Given the description of an element on the screen output the (x, y) to click on. 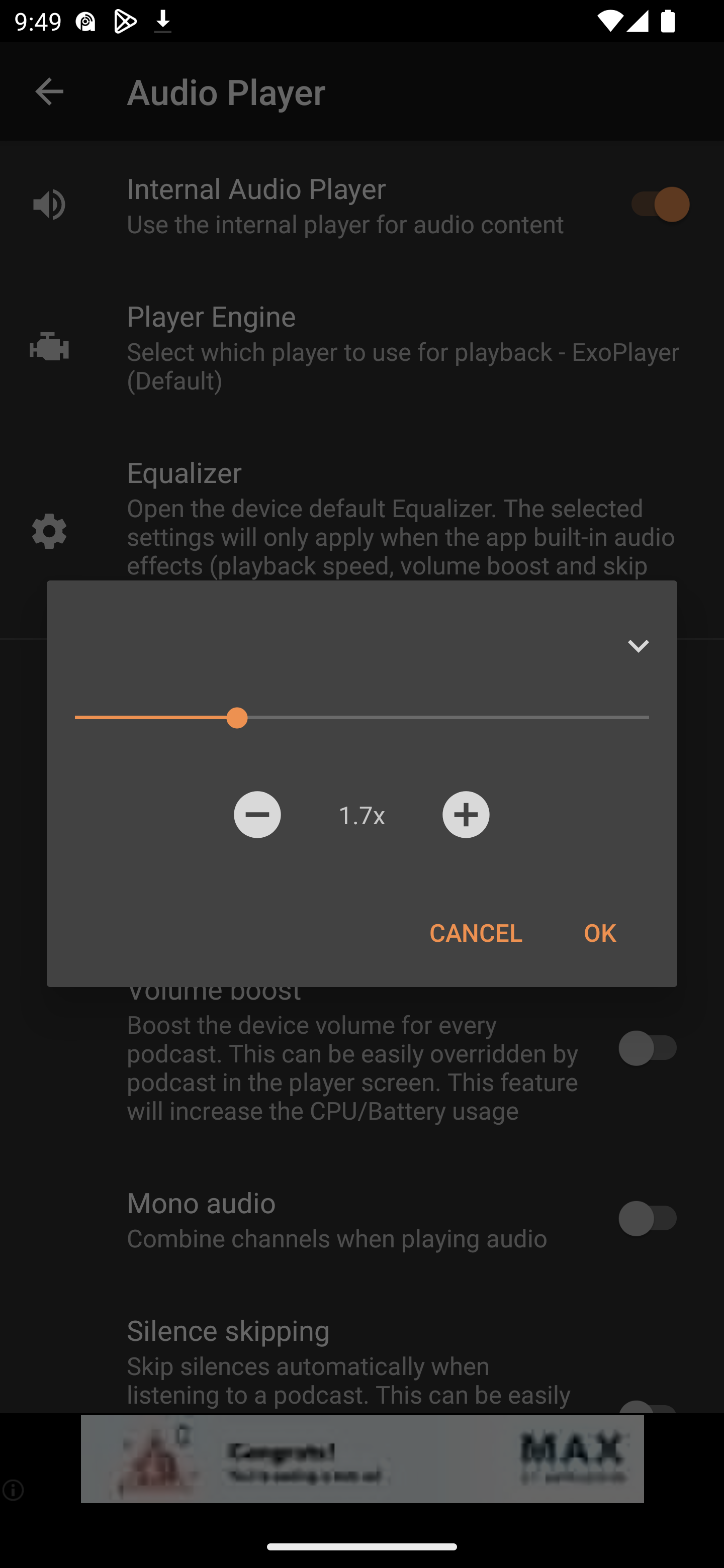
Expand (637, 645)
1.7x (361, 814)
CANCEL (475, 932)
OK (599, 932)
